Given the description of an element on the screen output the (x, y) to click on. 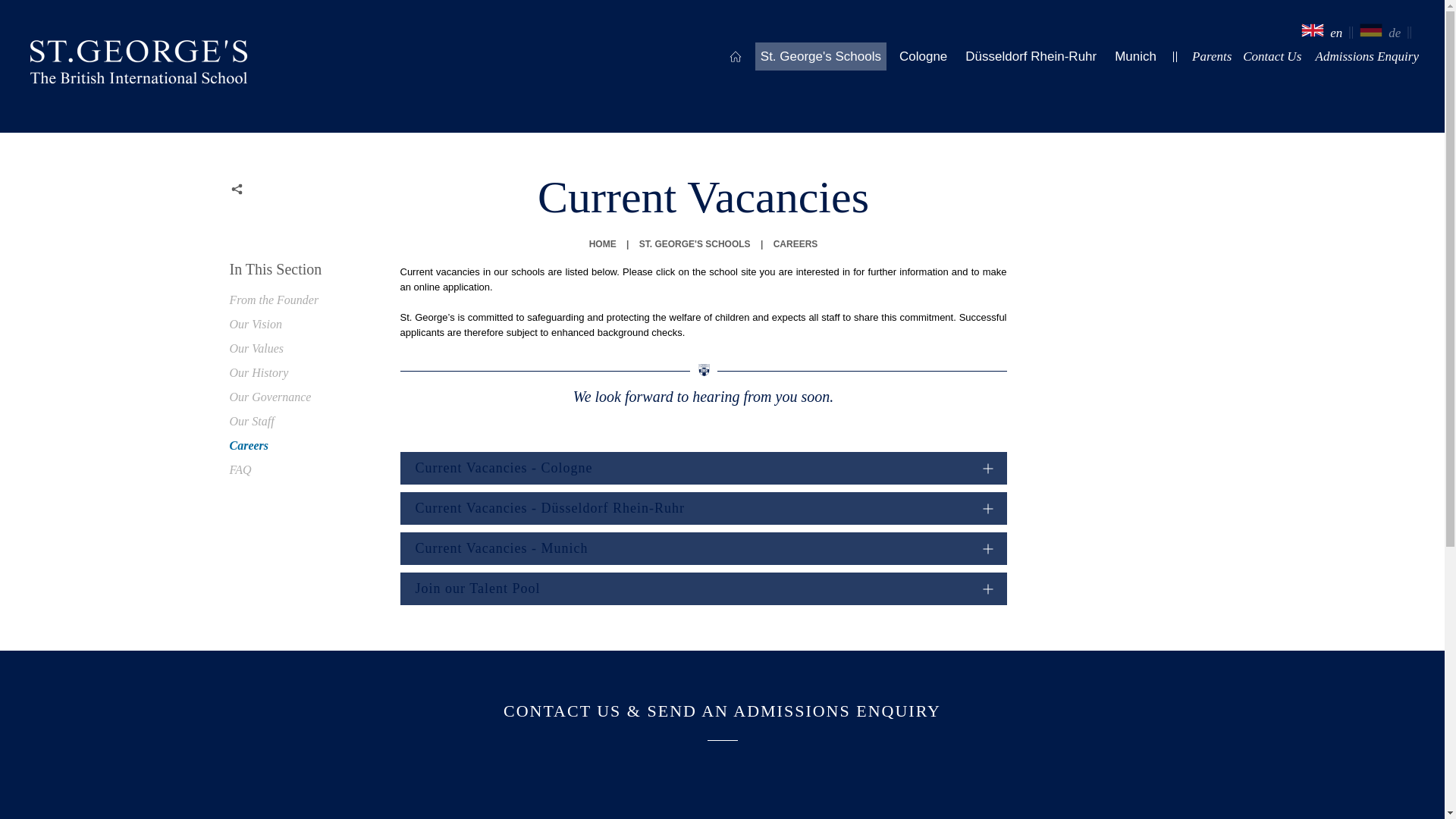
Contact Us (1271, 56)
Contact Us (1366, 56)
Parent Portal (1211, 56)
Share This Page (237, 189)
St. George's - The British International School (138, 65)
